Given the description of an element on the screen output the (x, y) to click on. 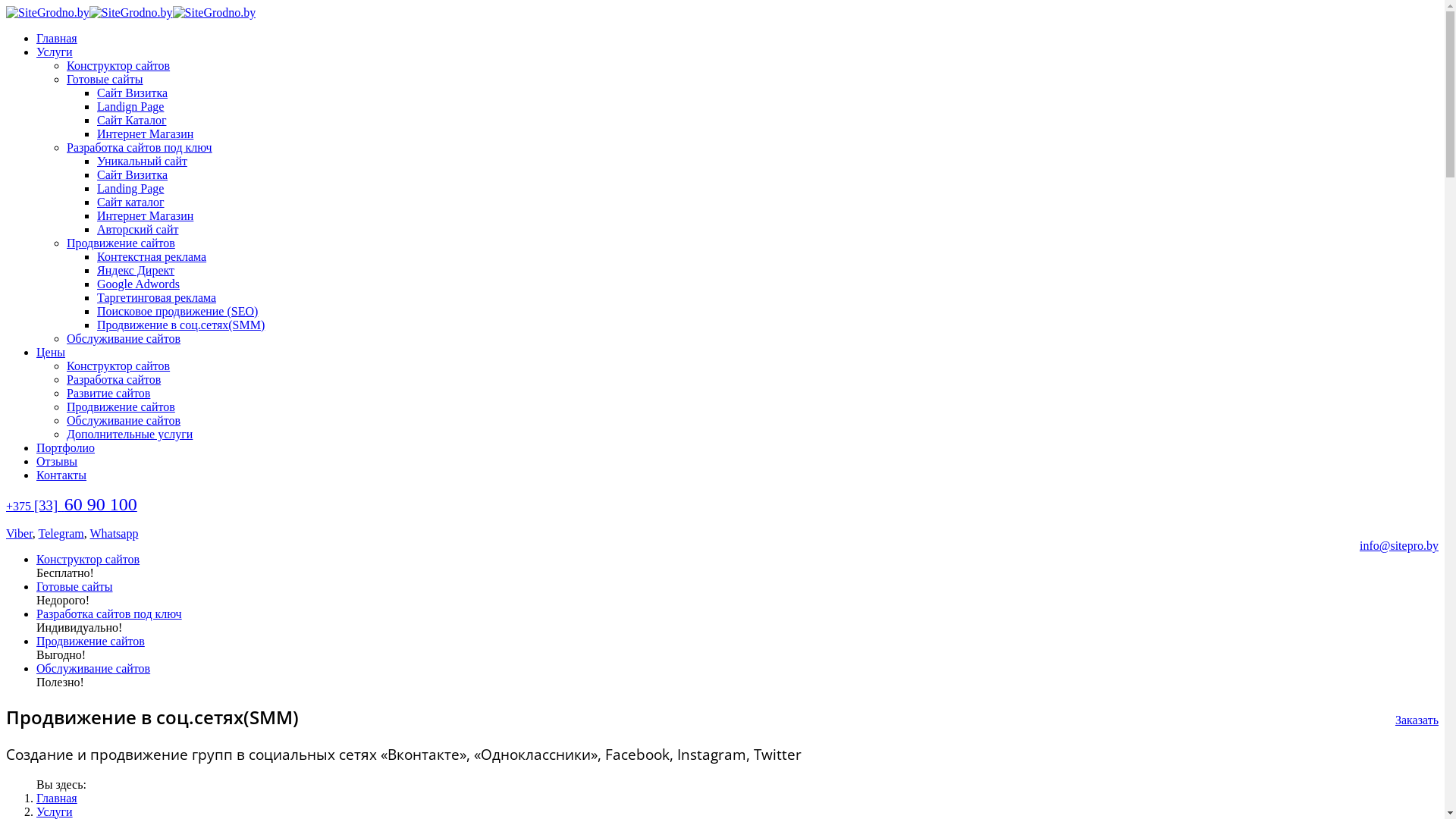
Whatsapp Element type: text (113, 533)
Landing Page Element type: text (130, 188)
+375 [33]  60 90 100 Element type: text (71, 505)
Landign Page Element type: text (130, 106)
Google Adwords Element type: text (138, 283)
Telegram Element type: text (61, 533)
info@sitepro.by Element type: text (1398, 545)
Viber Element type: text (19, 533)
